Given the description of an element on the screen output the (x, y) to click on. 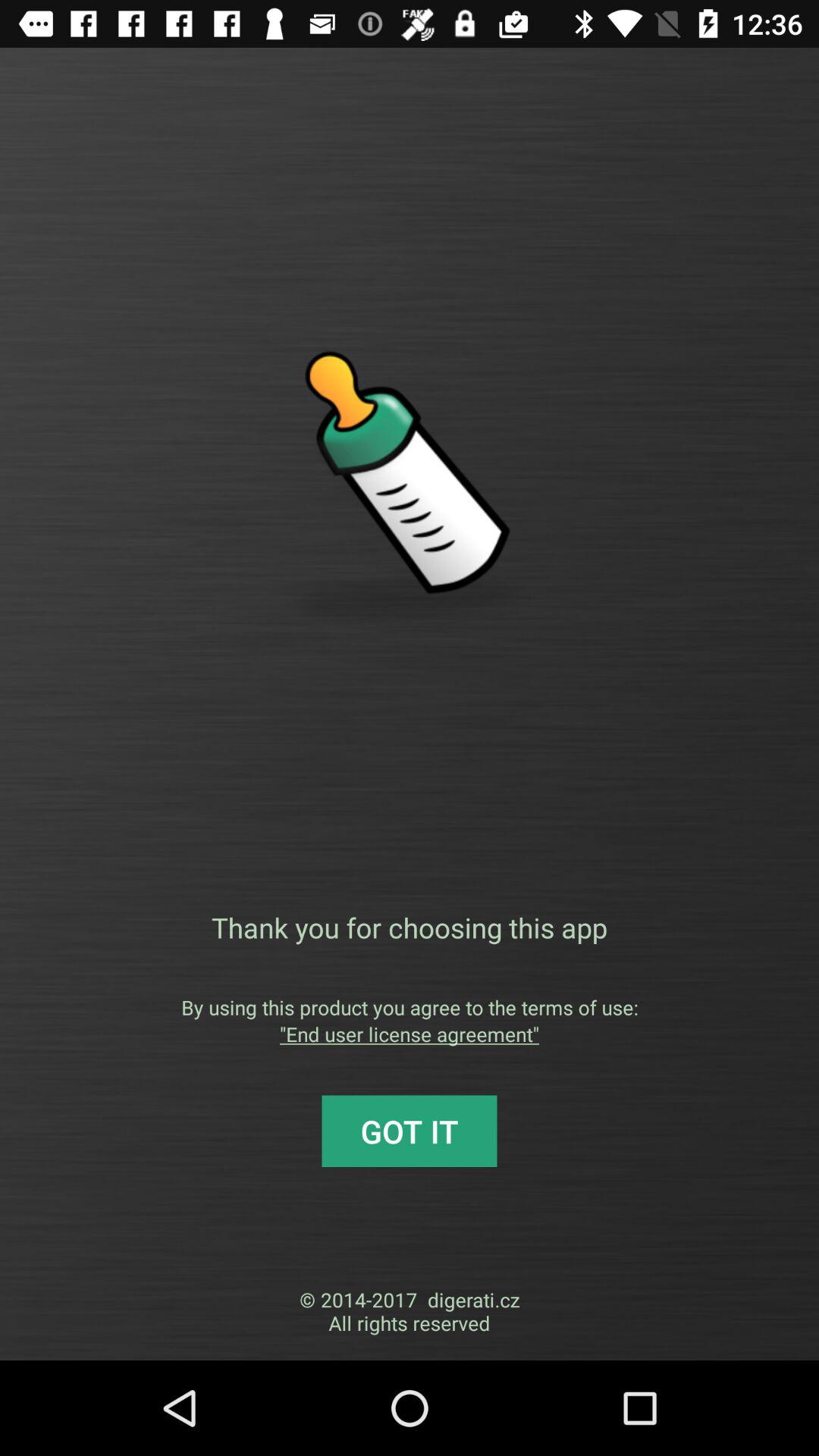
turn off icon at the center (409, 927)
